Given the description of an element on the screen output the (x, y) to click on. 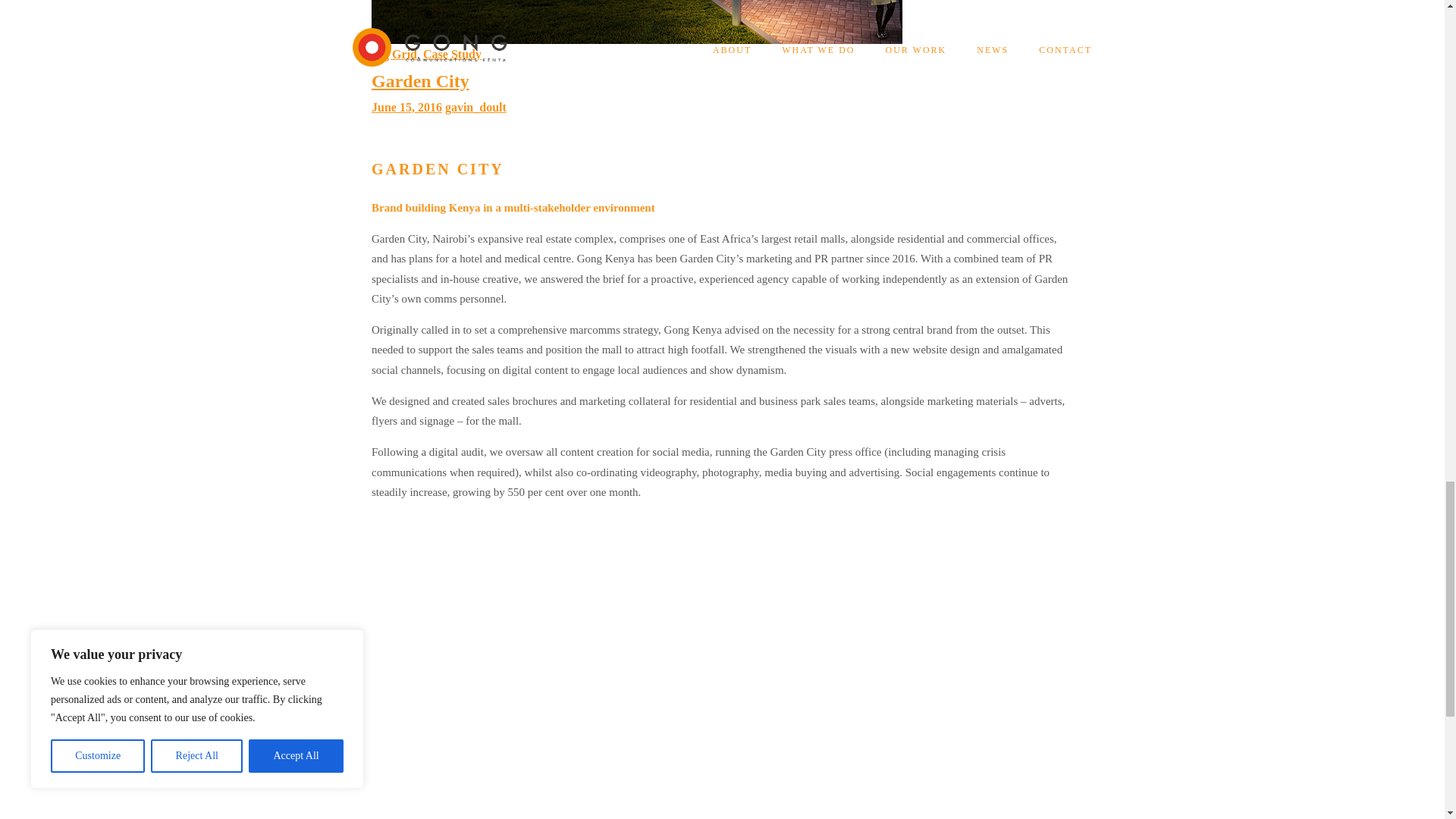
Garden City (419, 80)
Case Study (452, 53)
Garden City Promo.mp4 (903, 666)
Big Grid (393, 53)
June 15, 2016 (406, 106)
Garden City Fast.mov (541, 666)
